Given the description of an element on the screen output the (x, y) to click on. 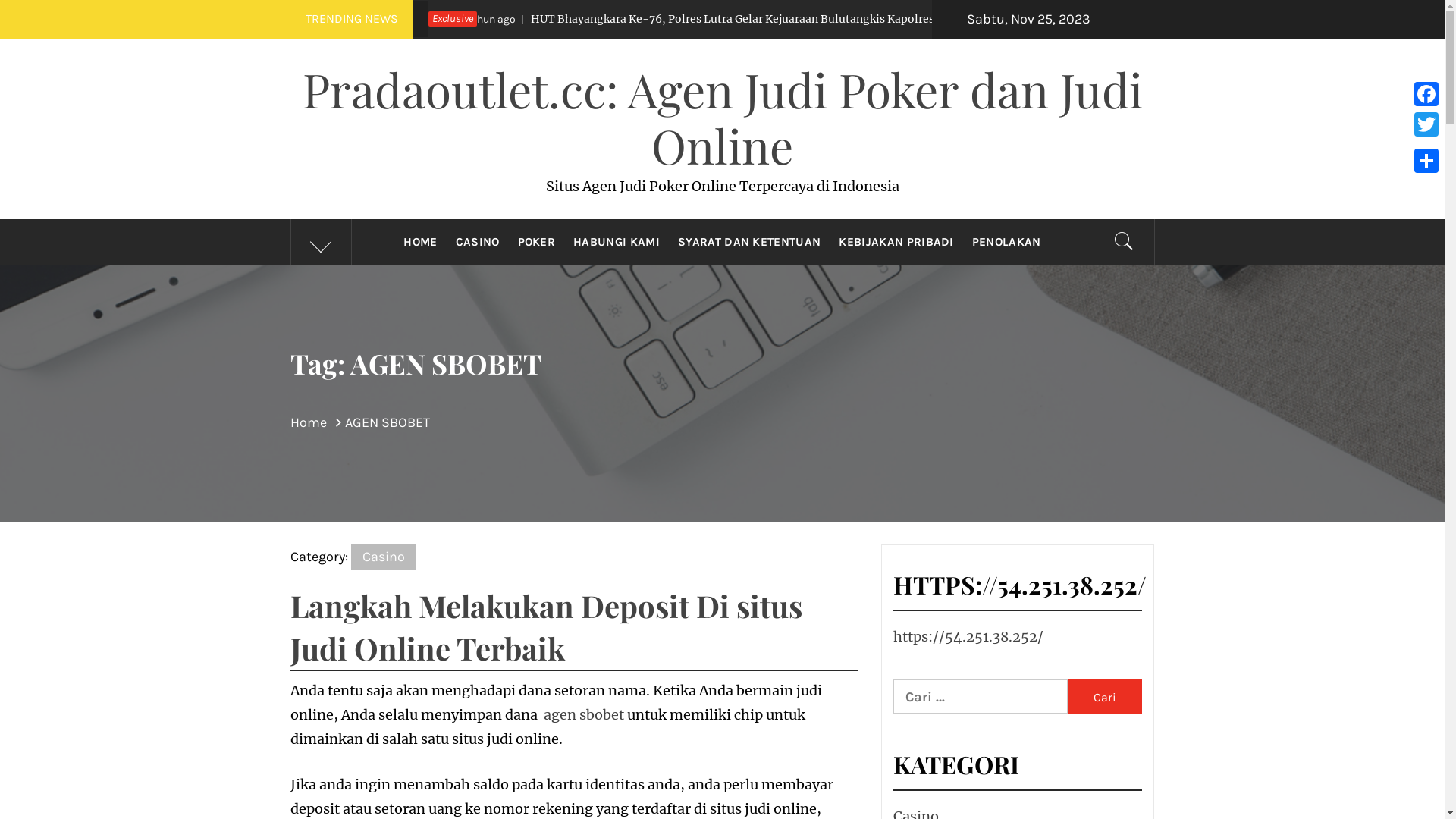
https://54.251.38.252/ Element type: text (968, 636)
Twitter Element type: text (1426, 124)
Skip to content Element type: text (0, 0)
KEBIJAKAN PRIBADI Element type: text (895, 241)
Google+ Element type: hover (1426, 142)
agen sbobet Element type: text (582, 714)
Facebook Element type: text (1426, 93)
Share Element type: text (1426, 160)
Langkah Melakukan Deposit Di situs Judi Online Terbaik Element type: text (545, 626)
Cari Element type: text (797, 37)
Pradaoutlet.cc: Agen Judi Poker dan Judi Online Element type: text (721, 116)
HOME Element type: text (419, 241)
POKER Element type: text (535, 241)
CASINO Element type: text (477, 241)
HABUNGI KAMI Element type: text (616, 241)
Casino Element type: text (382, 556)
SYARAT DAN KETENTUAN Element type: text (749, 241)
Home Element type: text (312, 422)
Cari Element type: text (1104, 696)
PENOLAKAN Element type: text (1006, 241)
